Given the description of an element on the screen output the (x, y) to click on. 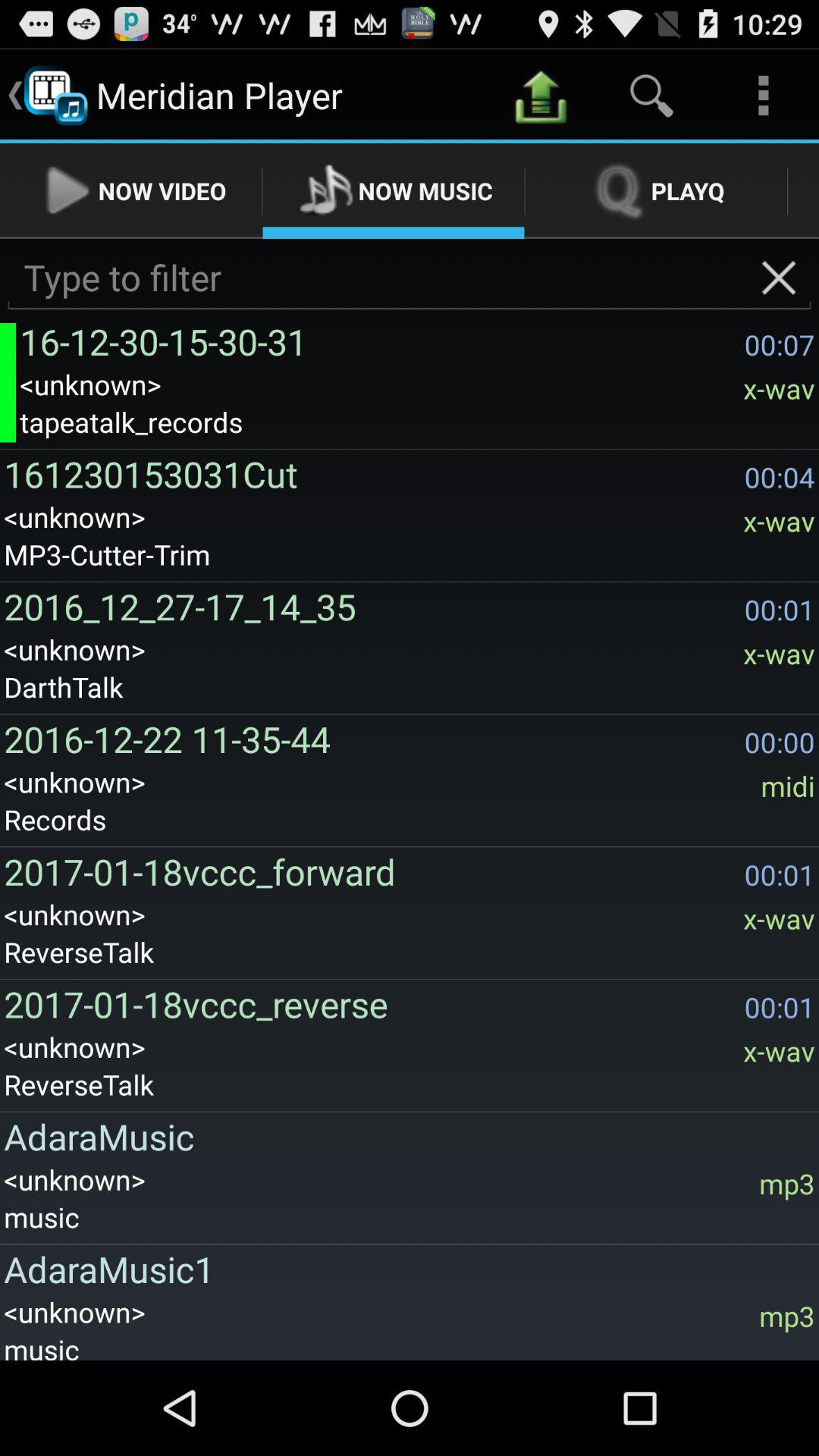
launch the icon to the left of 16 12 30 app (7, 382)
